Given the description of an element on the screen output the (x, y) to click on. 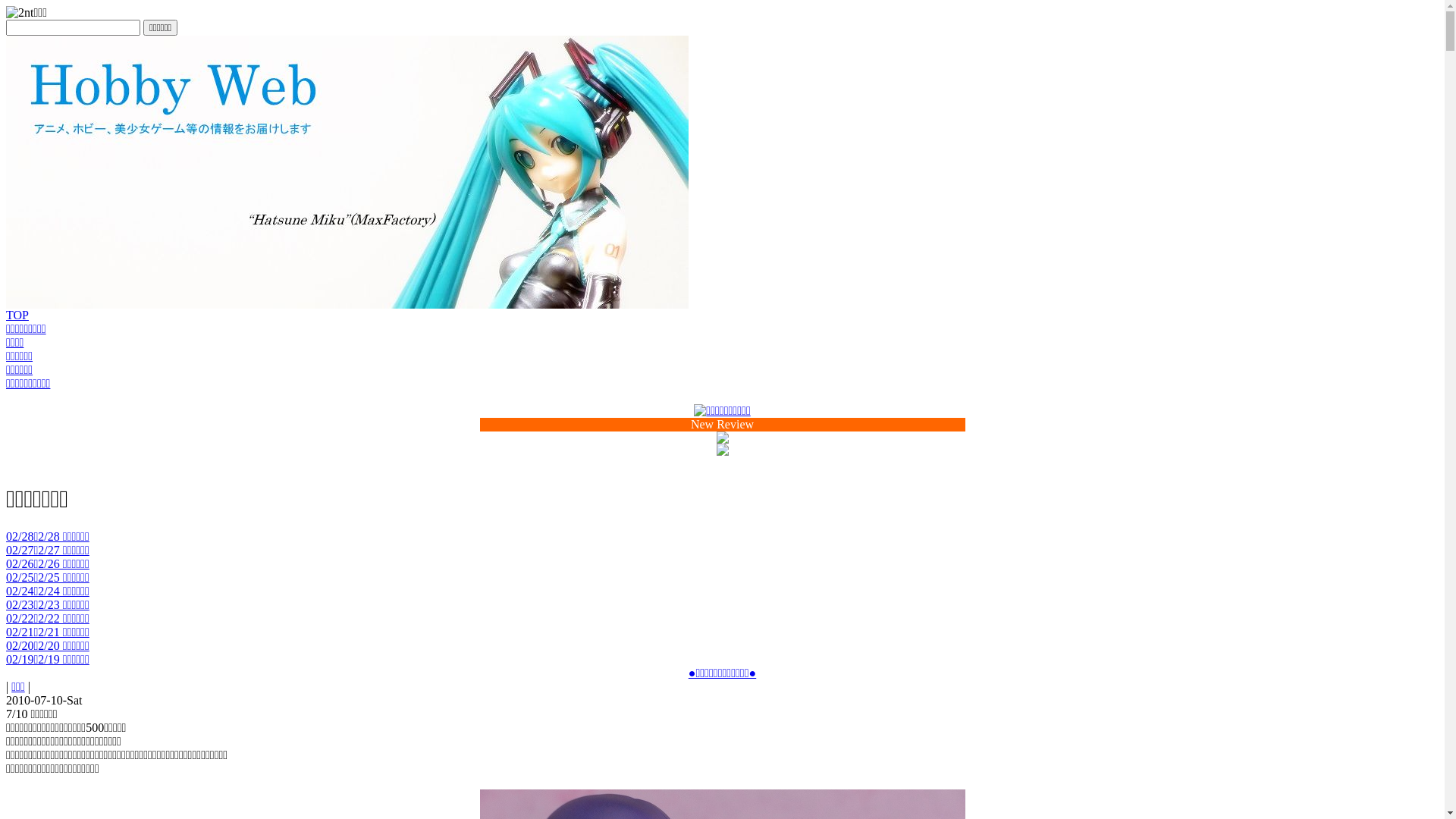
TOP Element type: text (17, 314)
